Given the description of an element on the screen output the (x, y) to click on. 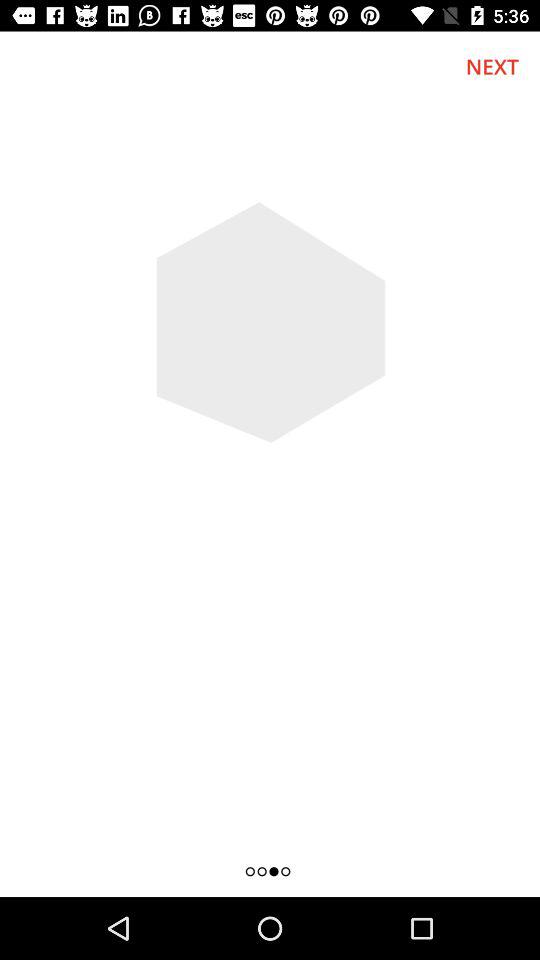
choose next item (492, 66)
